Given the description of an element on the screen output the (x, y) to click on. 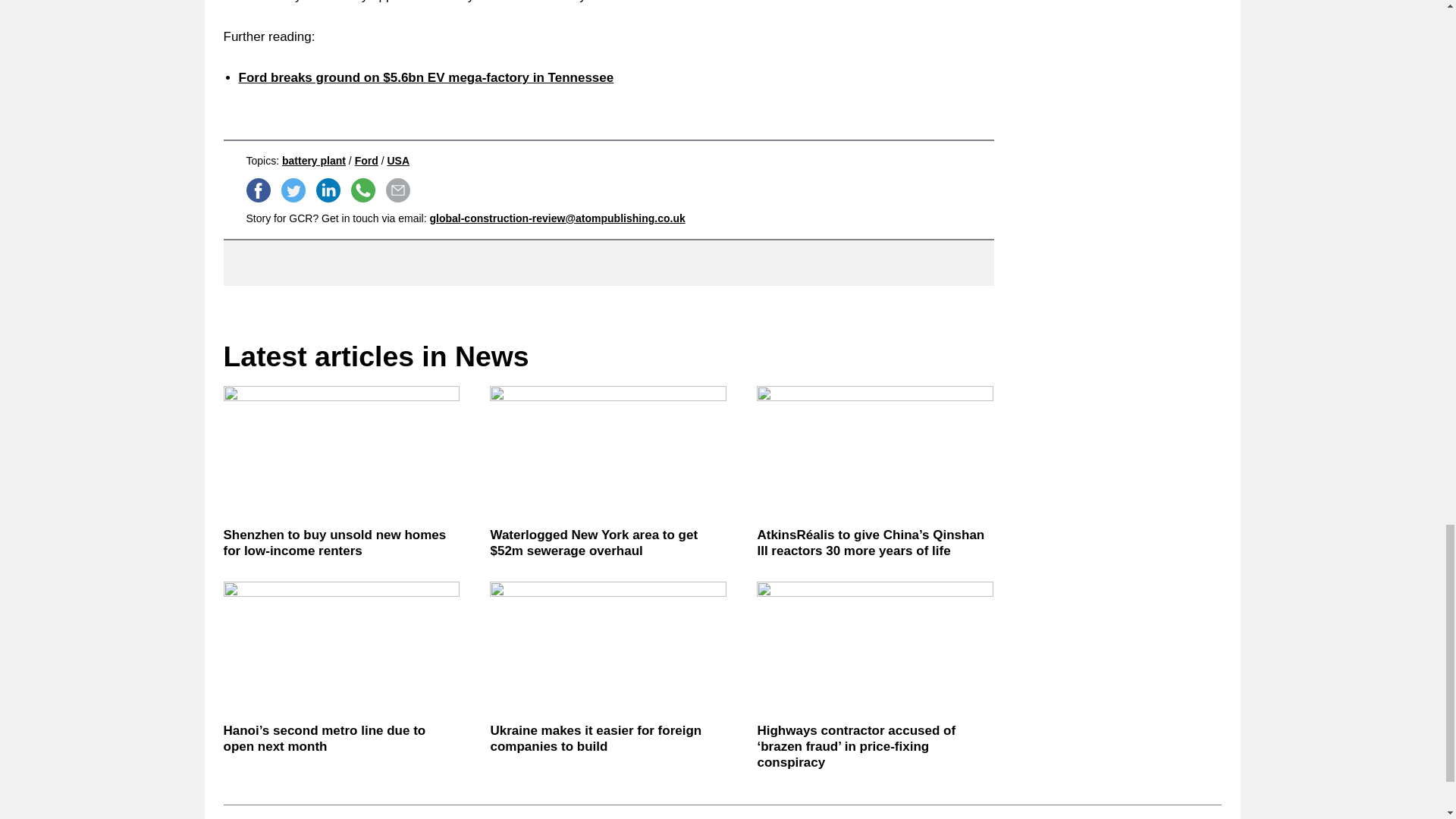
Shenzhen to buy unsold new homes for low-income renters (341, 543)
Share on WhatsApp (362, 190)
Shenzhen to buy unsold new homes for low-income renters (341, 451)
Share on Facebook (257, 190)
Tweet (292, 190)
Send email (397, 190)
Share on LinkedIn (327, 190)
